Given the description of an element on the screen output the (x, y) to click on. 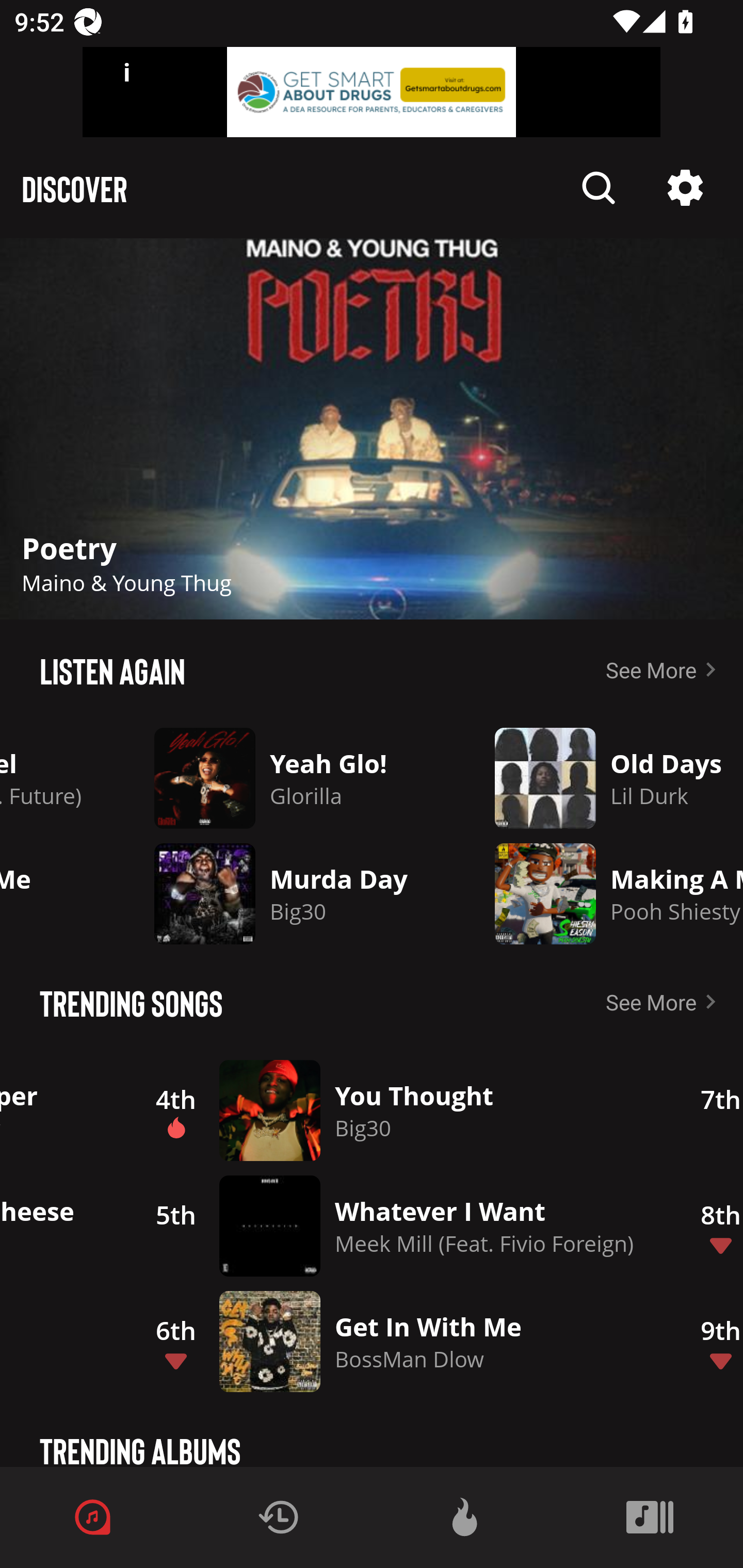
Description (598, 188)
Description (684, 188)
Description (371, 428)
See More (664, 669)
Description Yeah Glo! Glorilla (288, 778)
Description Old Days Lil Durk (604, 778)
Description Murda Day Big30 (288, 893)
See More (664, 1001)
4th Description Description You Thought Big30 (397, 1110)
7th (710, 1110)
8th Description (710, 1226)
9th Description (710, 1341)
